Given the description of an element on the screen output the (x, y) to click on. 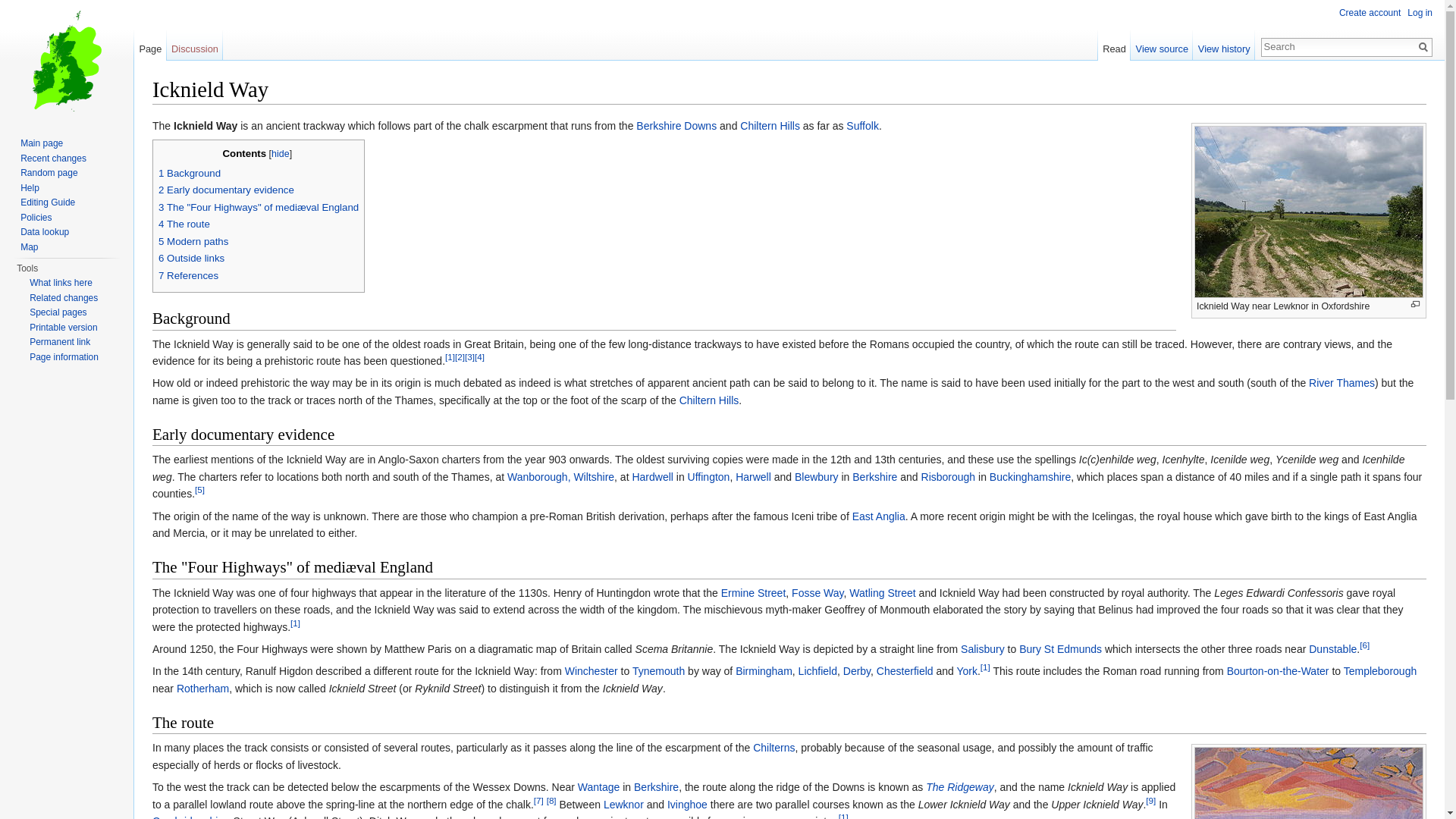
Salisbury (982, 648)
Watling Street (881, 592)
Berkshire (873, 476)
2 Early documentary evidence (226, 189)
1 Background (189, 173)
Ermine Street (753, 592)
Berkshire (873, 476)
5 Modern paths (193, 241)
East Anglia (878, 516)
Wanborough, Wiltshire (560, 476)
Hardwell Castle (651, 476)
Chiltern Hills (709, 399)
Dunstable (1332, 648)
Chiltern Hills (769, 125)
East Anglia (878, 516)
